Given the description of an element on the screen output the (x, y) to click on. 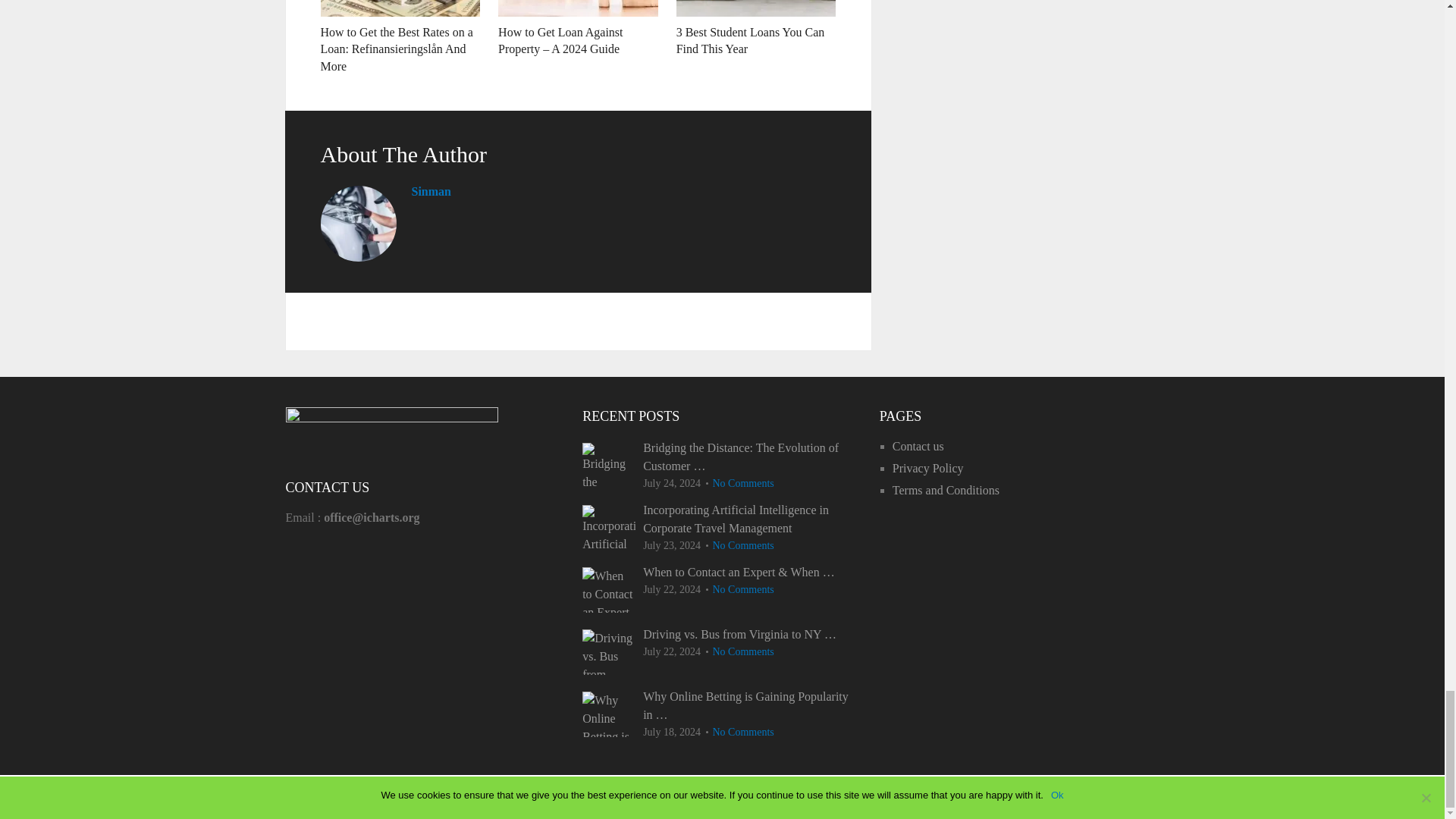
3 Best Student Loans You Can Find This Year (751, 40)
Sinman (429, 191)
3 Best Student Loans You Can Find This Year (756, 8)
3 Best Student Loans You Can Find This Year (751, 40)
